Given the description of an element on the screen output the (x, y) to click on. 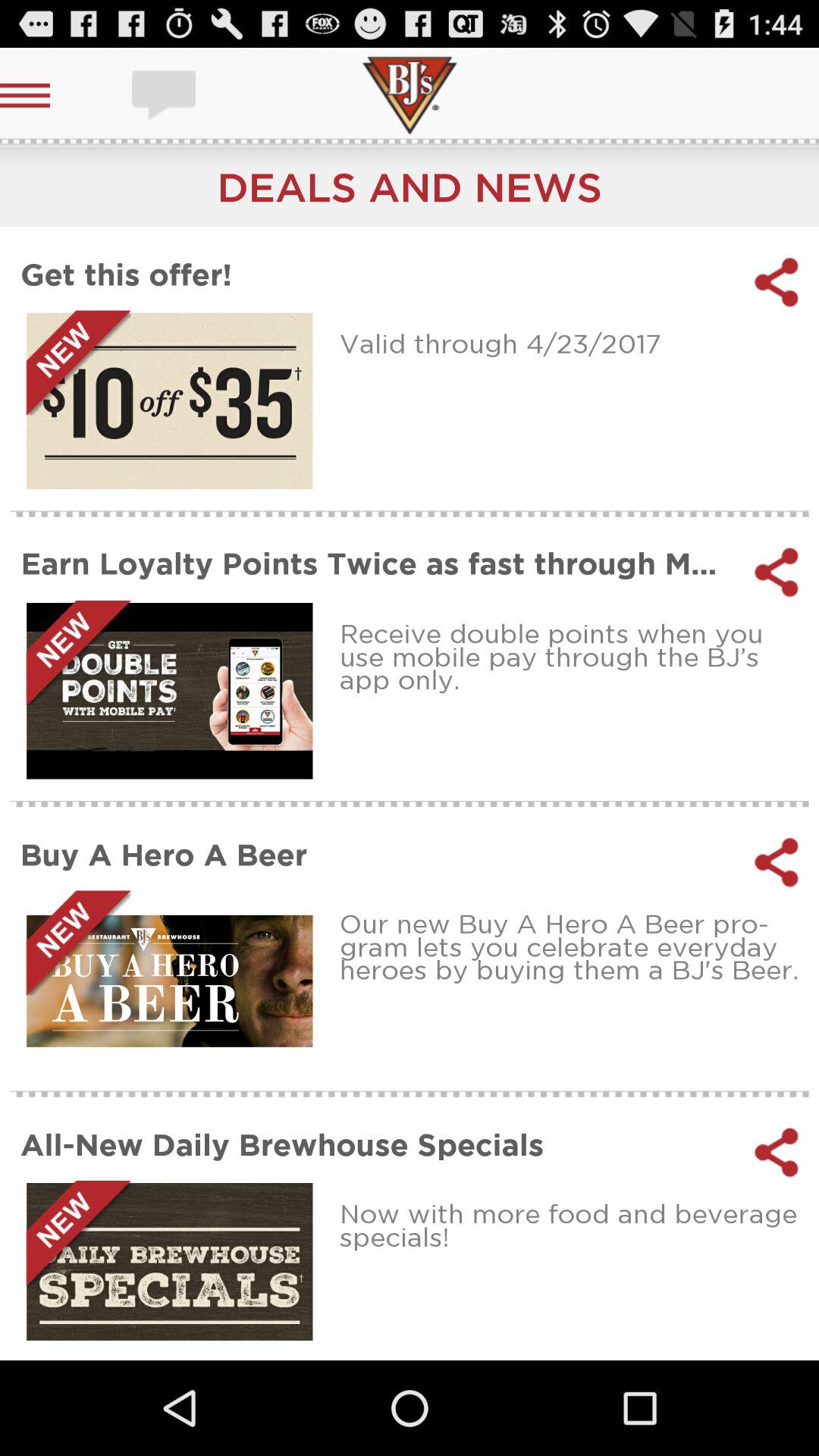
turn on item above deals and news app (165, 95)
